Given the description of an element on the screen output the (x, y) to click on. 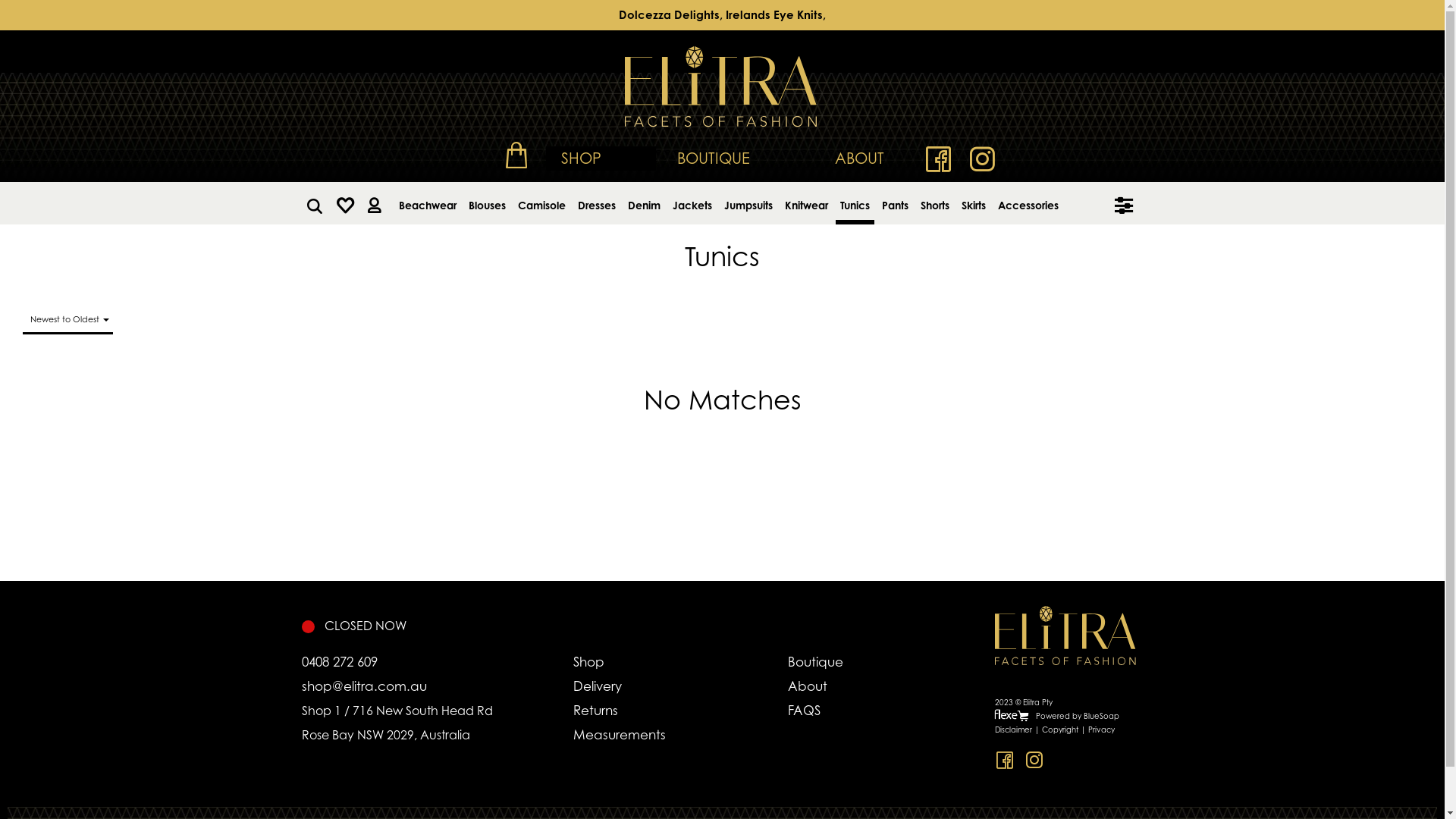
shop@elitra.com.au Element type: text (436, 686)
Delivery Element type: text (680, 686)
0408 272 609 Element type: text (436, 661)
Skirts Element type: text (973, 203)
Instagram Element type: hover (981, 159)
Copyright Element type: text (1059, 729)
c Element type: text (516, 154)
FAQS Element type: text (856, 710)
Blouses Element type: text (487, 203)
Shop Element type: text (680, 661)
SHOP Element type: text (600, 158)
Denim Element type: text (644, 203)
About Element type: text (856, 686)
Dresses Element type: text (596, 203)
a Element type: text (372, 203)
Shorts Element type: text (934, 203)
Beachwear Element type: text (427, 203)
Jackets Element type: text (691, 203)
Camisole Element type: text (540, 203)
Facebook Element type: hover (1004, 759)
Pants Element type: text (894, 203)
Returns Element type: text (680, 710)
Jumpsuits Element type: text (747, 203)
Disclaimer Element type: text (1013, 729)
BOUTIQUE Element type: text (712, 158)
Tunics Element type: text (854, 203)
Privacy Element type: text (1101, 729)
Accessories Element type: text (1028, 203)
Measurements Element type: text (680, 734)
Facebook Element type: hover (937, 159)
Sitemap Element type: text (1068, 776)
Boutique Element type: text (856, 661)
ABOUT Element type: text (858, 158)
Instagram Element type: hover (1033, 759)
h Element type: text (345, 203)
Knitwear Element type: text (805, 203)
